Given the description of an element on the screen output the (x, y) to click on. 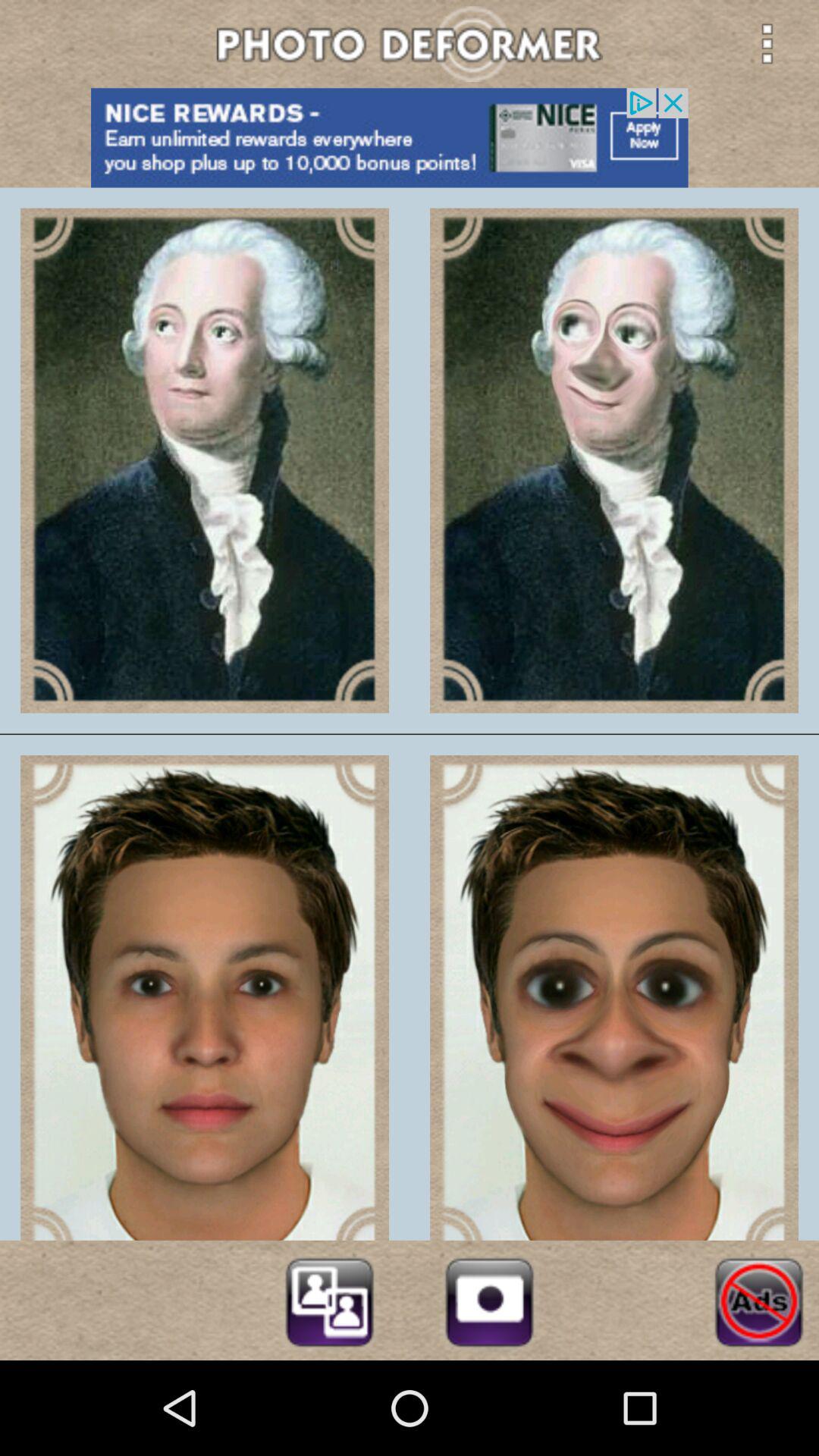
remove advertisements (758, 1300)
